Given the description of an element on the screen output the (x, y) to click on. 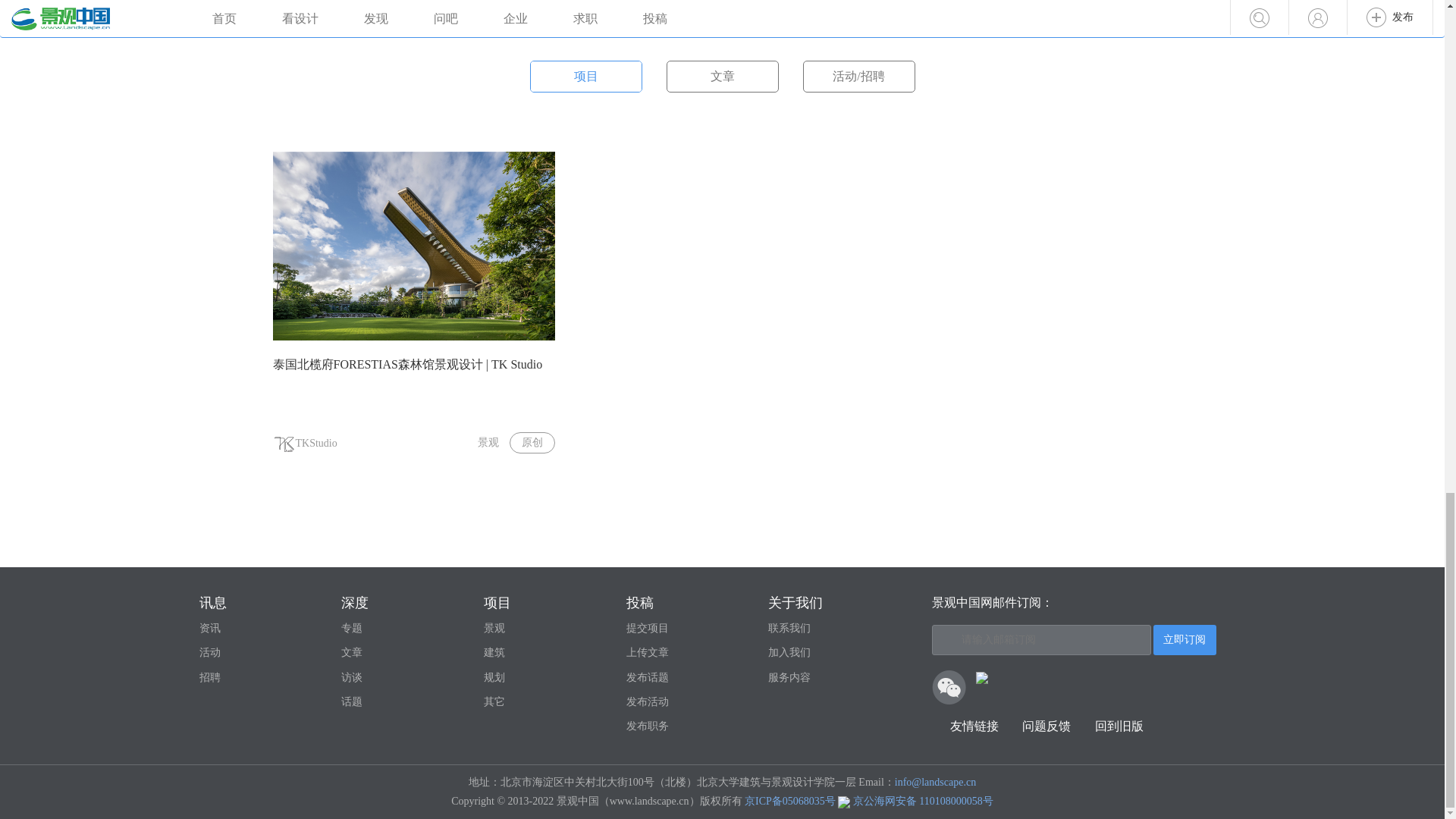
TKStudio (305, 442)
